Given the description of an element on the screen output the (x, y) to click on. 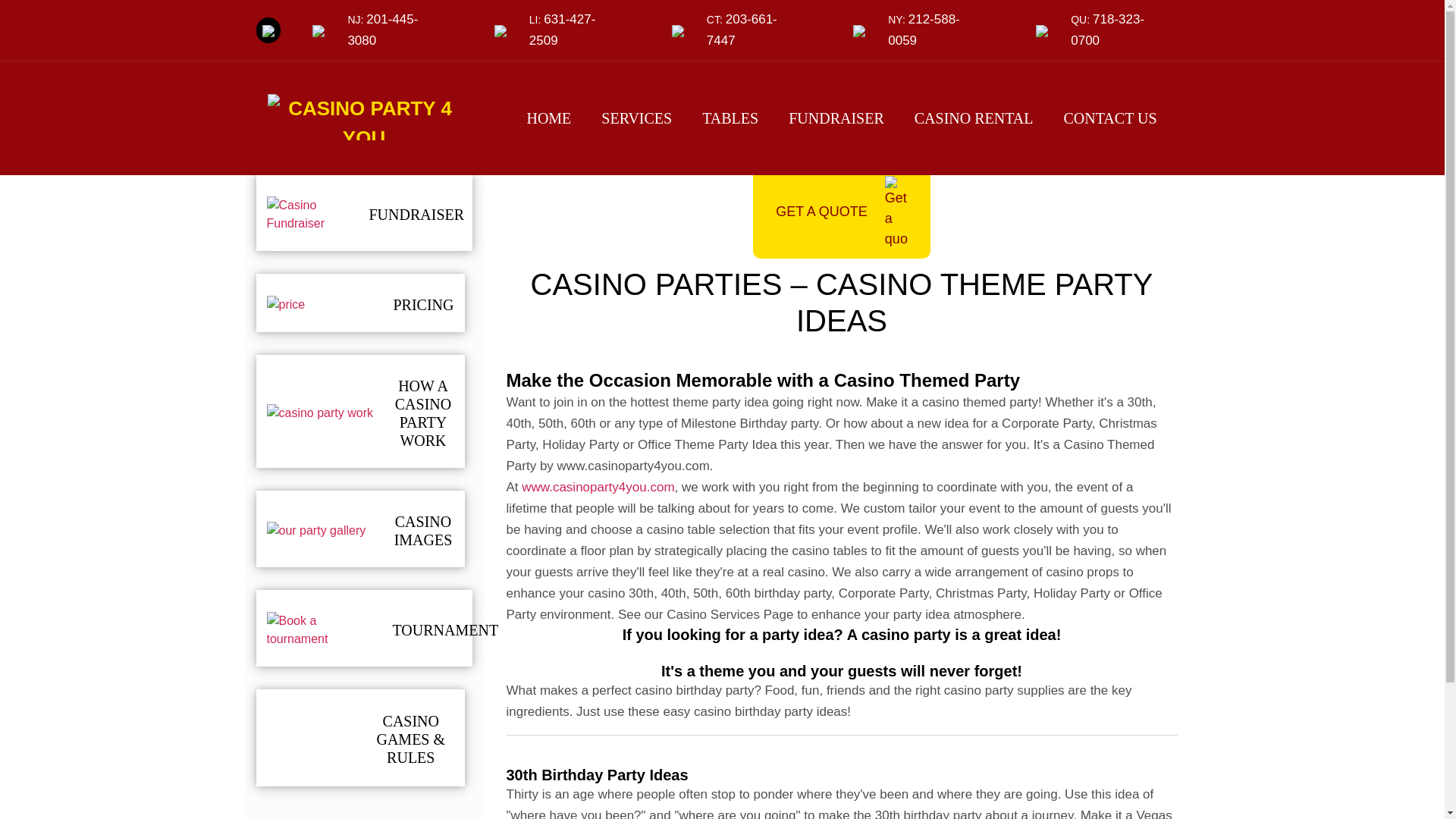
TABLES (730, 118)
GET A QUOTE (841, 212)
FUNDRAISER (416, 214)
HOME (548, 118)
CONTACT US (1110, 118)
CASINO RENTAL (973, 118)
TOURNAMENT (446, 629)
718-323-0700 (1107, 29)
PRICING (422, 304)
HOW A CASINO PARTY WORK (423, 412)
203-661-7447 (741, 29)
201-445-3080 (382, 29)
631-427-2509 (562, 29)
212-588-0059 (923, 29)
SERVICES (636, 118)
